Given the description of an element on the screen output the (x, y) to click on. 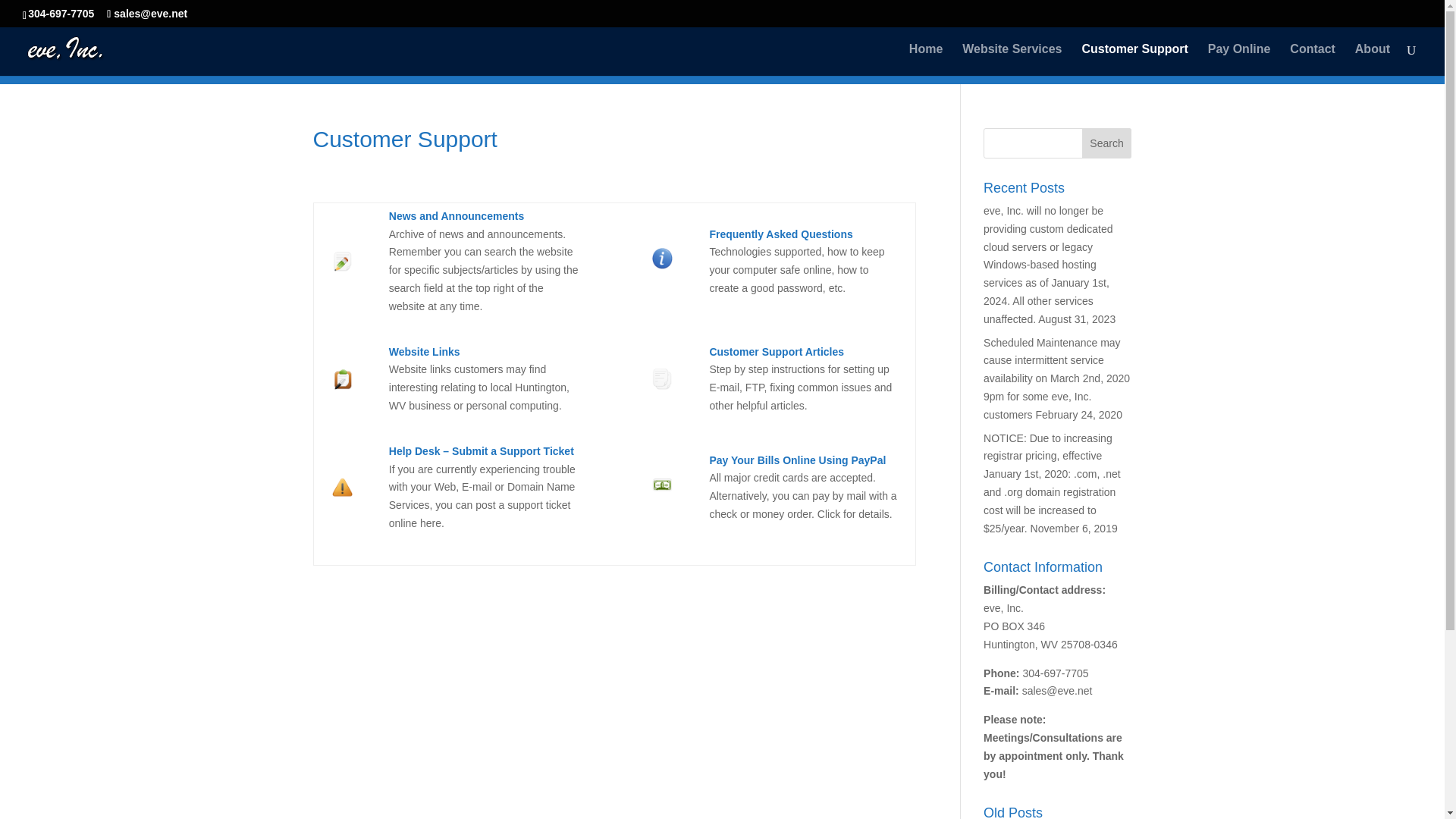
Customer Support Articles (776, 351)
Help Desk - Submit a Support Ticket Online (480, 451)
Customer Support Articles (662, 378)
Customer Support Articles (776, 351)
Contact (1312, 60)
Pay Your Bills Online Using PayPal (797, 460)
Frequently Asked Questions (780, 234)
Frequently Asked Questions (662, 265)
Frequently Asked Questions (780, 234)
News and Announcements (456, 215)
